Given the description of an element on the screen output the (x, y) to click on. 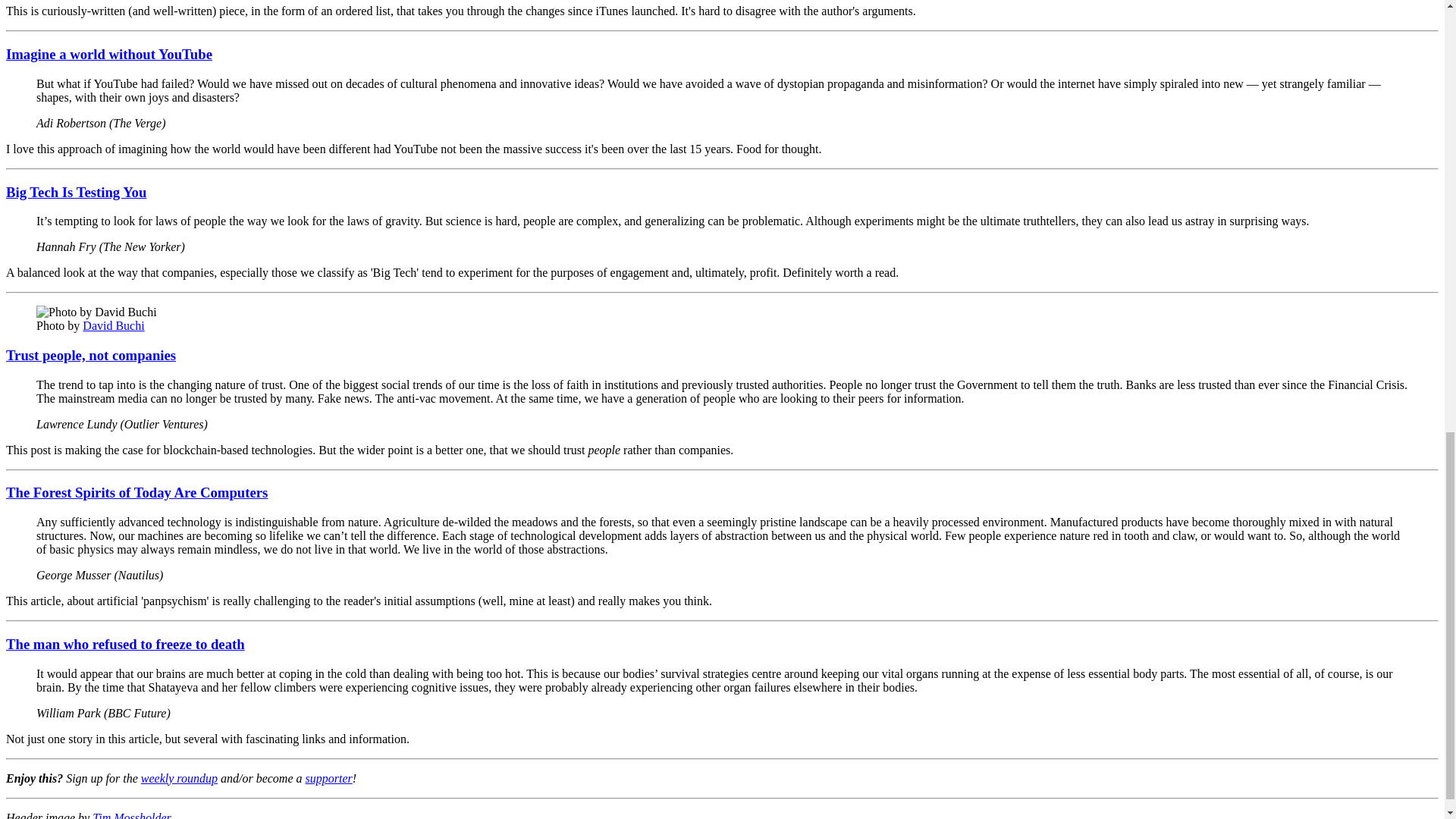
weekly roundup (178, 778)
Big Tech Is Testing You (76, 191)
David Buchi (113, 325)
The man who refused to freeze to death (124, 643)
The Forest Spirits of Today Are Computers (136, 492)
supporter (328, 778)
Trust people, not companies (90, 355)
Imagine a world without YouTube (108, 53)
